Given the description of an element on the screen output the (x, y) to click on. 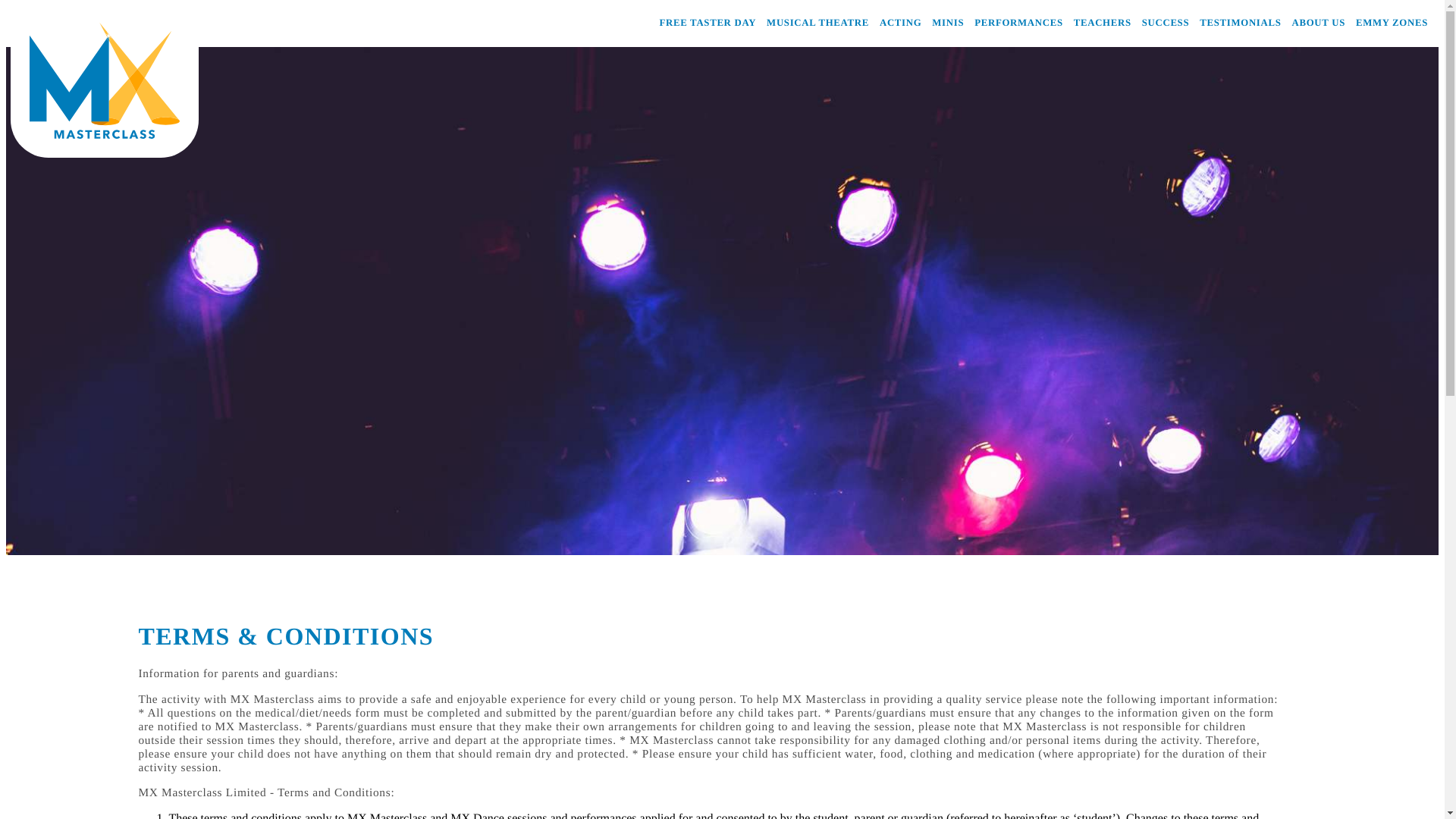
ABOUT US (1318, 22)
TESTIMONIALS (1240, 22)
EMMY ZONES (1391, 22)
TEACHERS (1102, 22)
PERFORMANCES (1018, 22)
MINIS (947, 22)
ACTING (900, 22)
MUSICAL THEATRE (818, 22)
FREE TASTER DAY (708, 22)
SUCCESS (1165, 22)
